Given the description of an element on the screen output the (x, y) to click on. 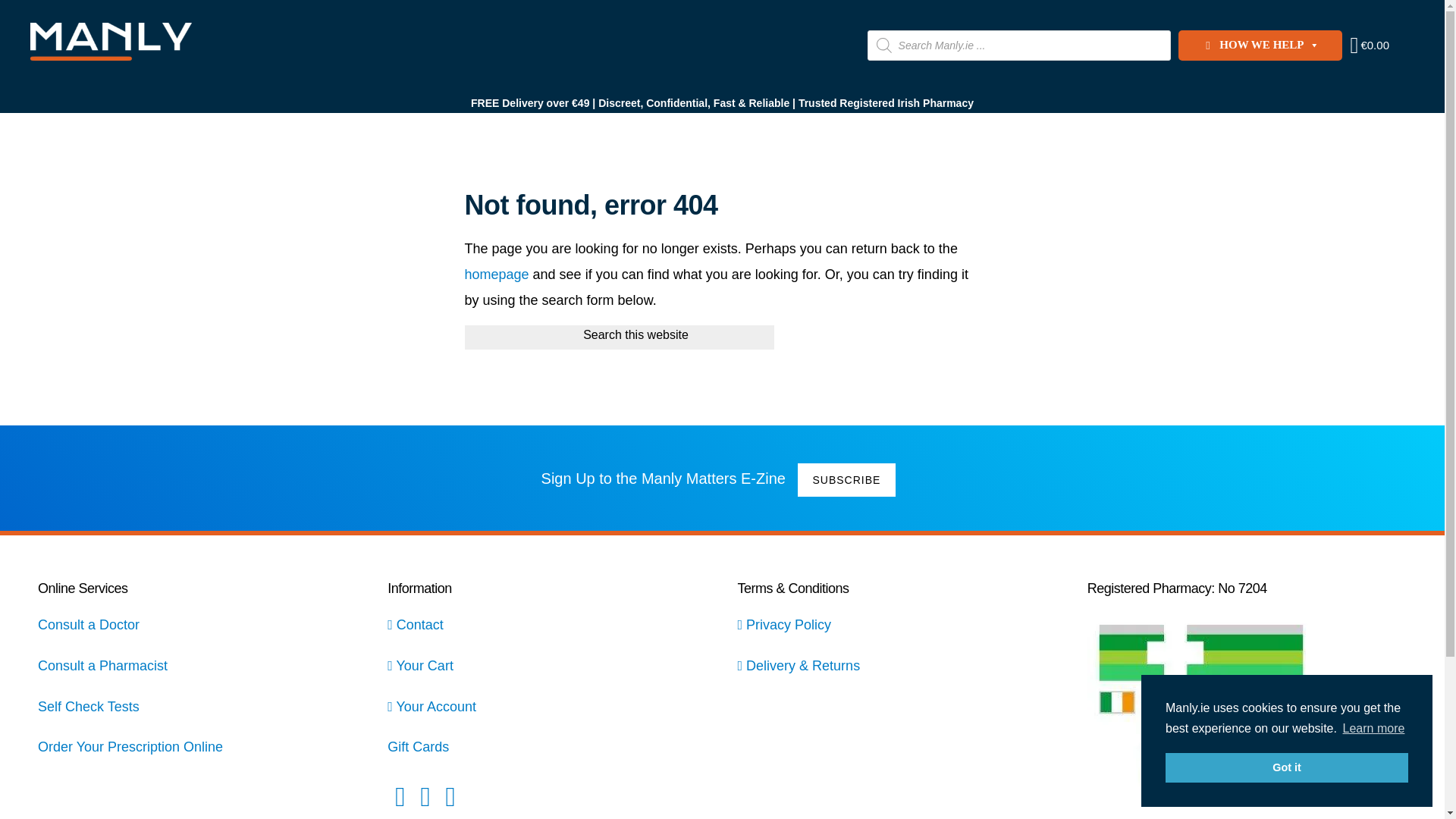
HOW WE HELP (1259, 45)
Got it (1286, 767)
Learn more (1372, 728)
